Given the description of an element on the screen output the (x, y) to click on. 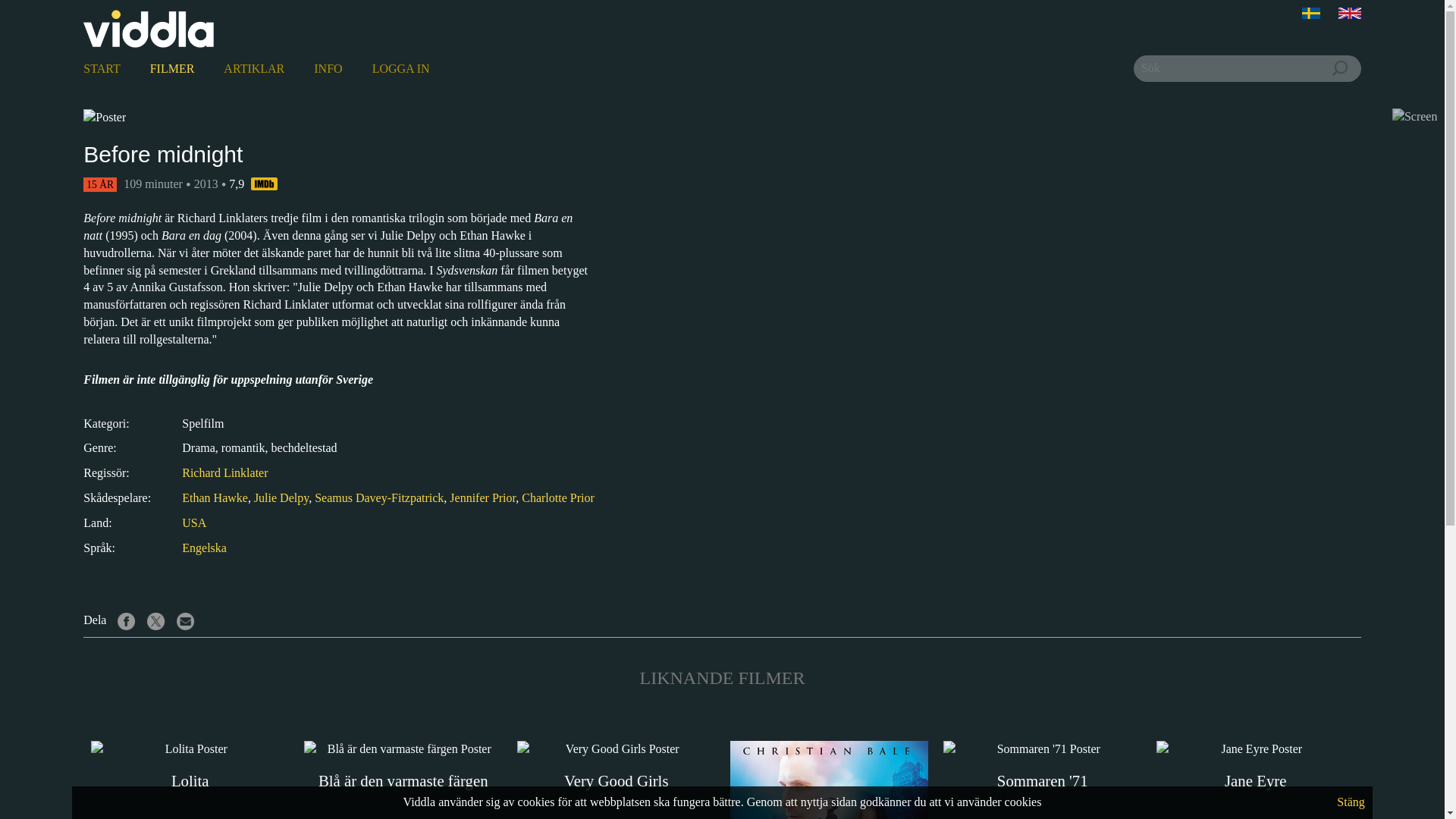
Jennifer Prior (482, 497)
Sommaren '71 (1042, 766)
Very Good Girls (615, 766)
LOGGA IN (406, 68)
START (106, 68)
FILMER (177, 68)
Engelska (204, 547)
Charlotte Prior (557, 497)
Richard Linklater (224, 472)
USA (194, 522)
